Given the description of an element on the screen output the (x, y) to click on. 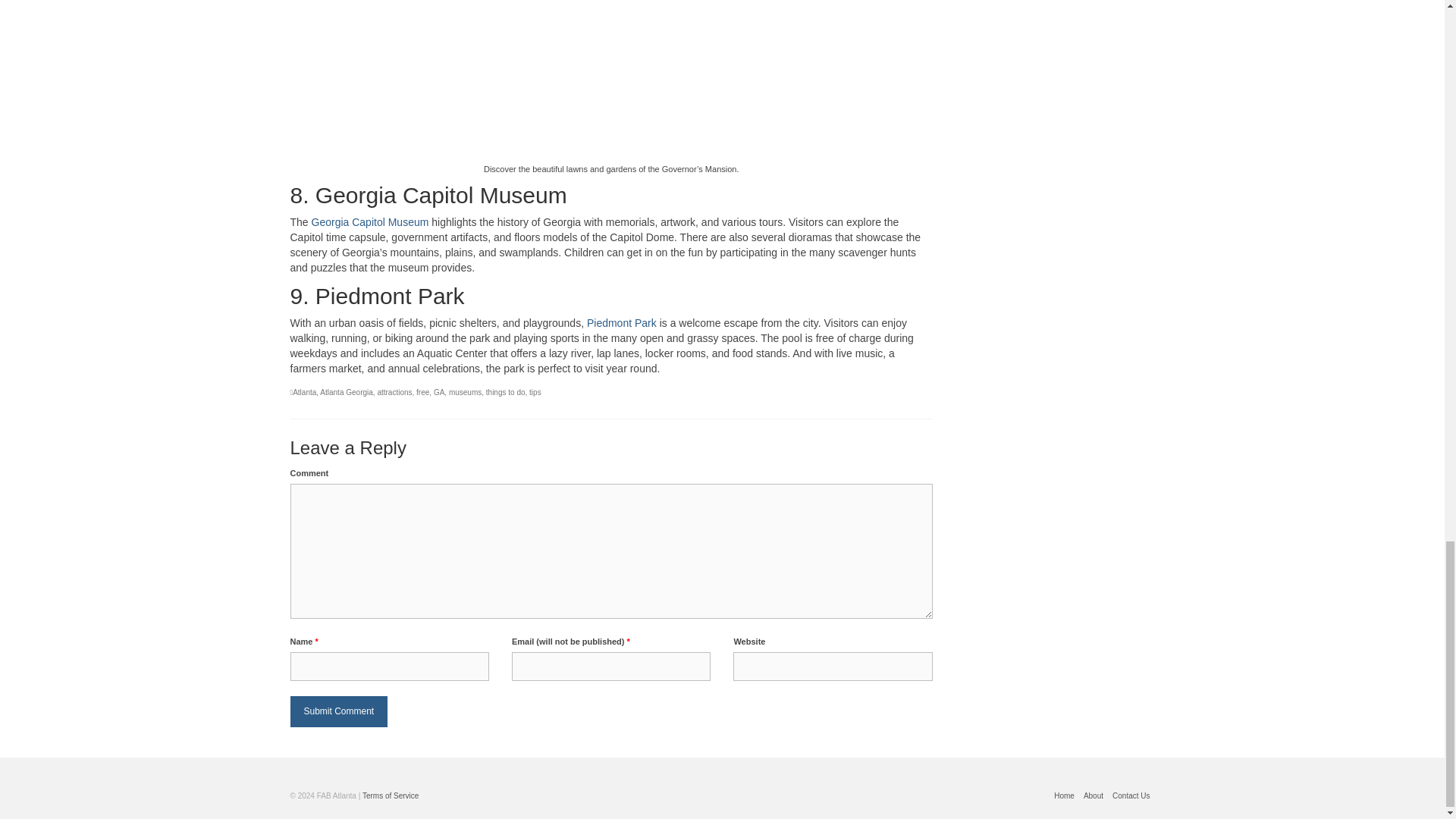
Submit Comment (338, 711)
attractions (394, 392)
Terms of Service (390, 795)
Submit Comment (338, 711)
Home (1063, 795)
GA (438, 392)
Contact Us (1131, 795)
Piedmont Park (621, 322)
museums (464, 392)
tips (535, 392)
